Given the description of an element on the screen output the (x, y) to click on. 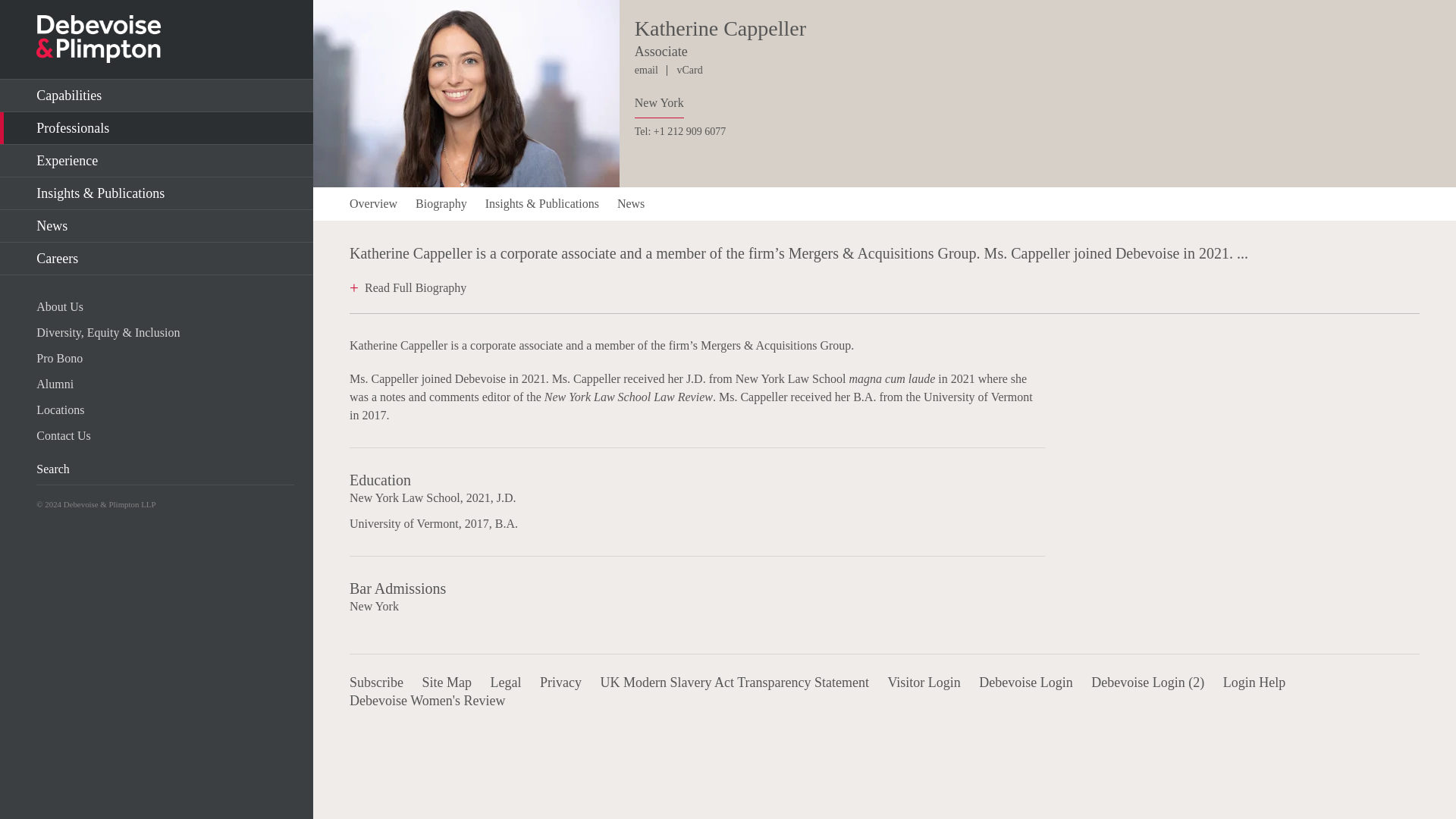
Subscribe (376, 682)
vCard (689, 70)
Visitor Login (922, 682)
About Us (165, 307)
Professionals (156, 128)
Careers (156, 258)
Contact Us (165, 435)
Privacy (560, 682)
New York (659, 105)
Biography (440, 203)
